Given the description of an element on the screen output the (x, y) to click on. 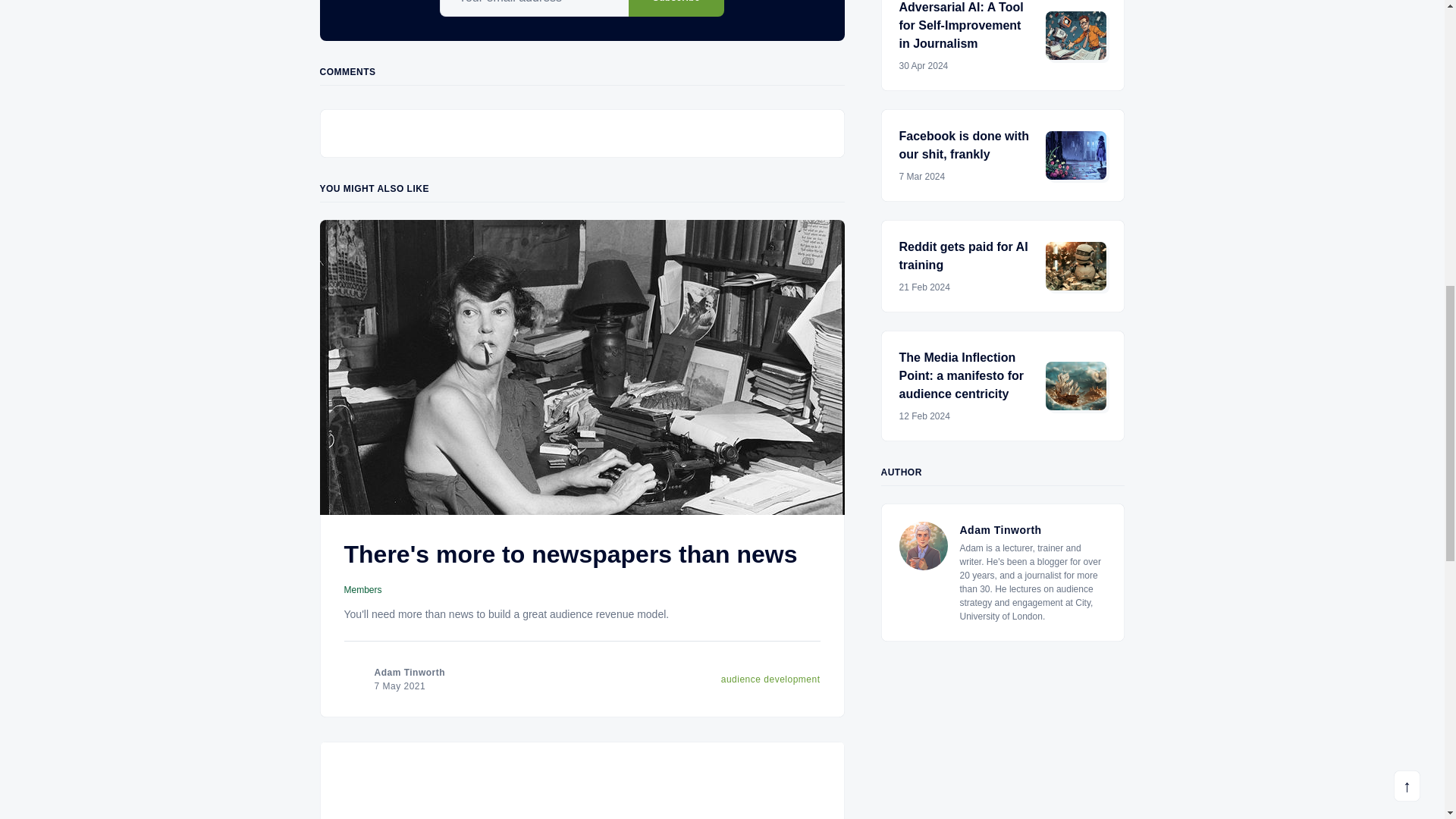
Subscribe (676, 8)
There's more to newspapers than news (570, 554)
